Given the description of an element on the screen output the (x, y) to click on. 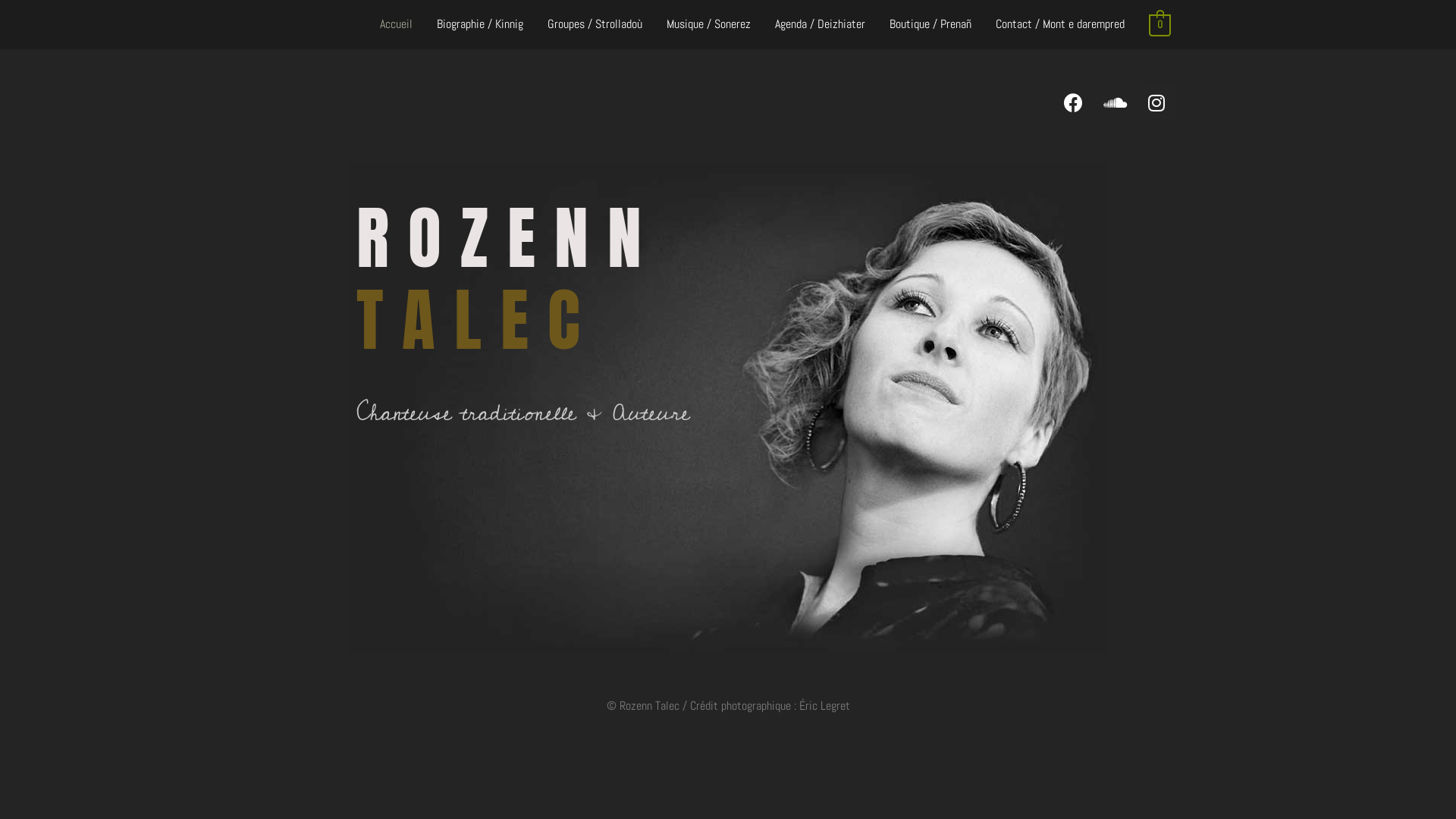
Agenda / Deizhiater Element type: text (819, 24)
Accueil Element type: text (395, 24)
Musique / Sonerez Element type: text (708, 24)
0 Element type: text (1159, 24)
Biographie / Kinnig Element type: text (479, 24)
Contact / Mont e darempred Element type: text (1059, 24)
